Given the description of an element on the screen output the (x, y) to click on. 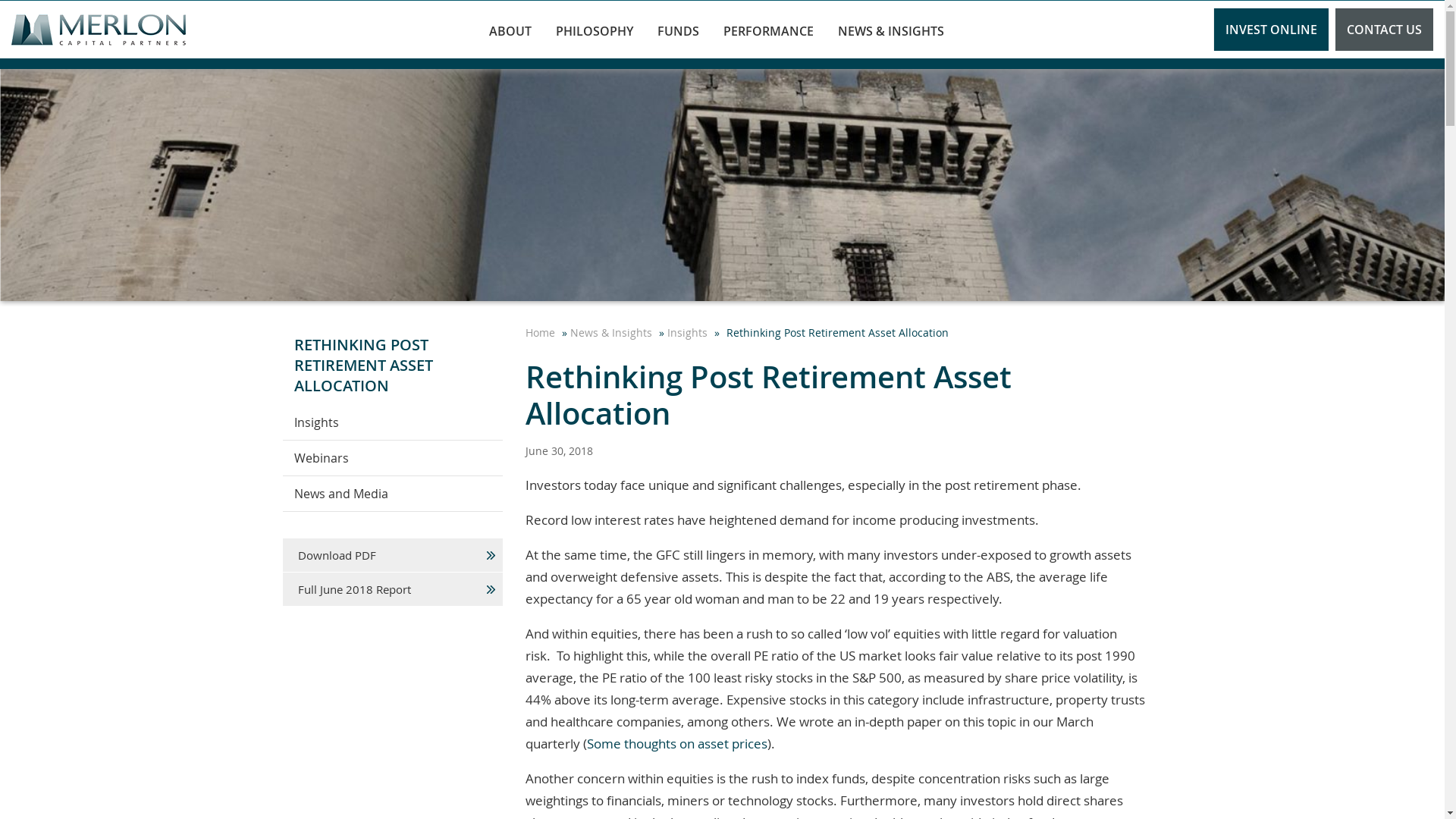
Some thoughts on asset prices Element type: text (676, 743)
Full June 2018 Report Element type: text (392, 589)
Insights Element type: text (689, 332)
INVEST ONLINE Element type: text (1271, 29)
PHILOSOPHY Element type: text (594, 29)
Download PDF Element type: text (392, 555)
FUNDS Element type: text (678, 29)
News and Media Element type: text (392, 493)
Insights Element type: text (392, 422)
CONTACT US Element type: text (1384, 29)
ABOUT Element type: text (510, 29)
NEWS & INSIGHTS Element type: text (890, 29)
News & Insights Element type: text (612, 332)
Home Element type: text (541, 332)
Webinars Element type: text (392, 458)
PERFORMANCE Element type: text (768, 29)
RETHINKING POST RETIREMENT ASSET ALLOCATION Element type: text (392, 364)
